Given the description of an element on the screen output the (x, y) to click on. 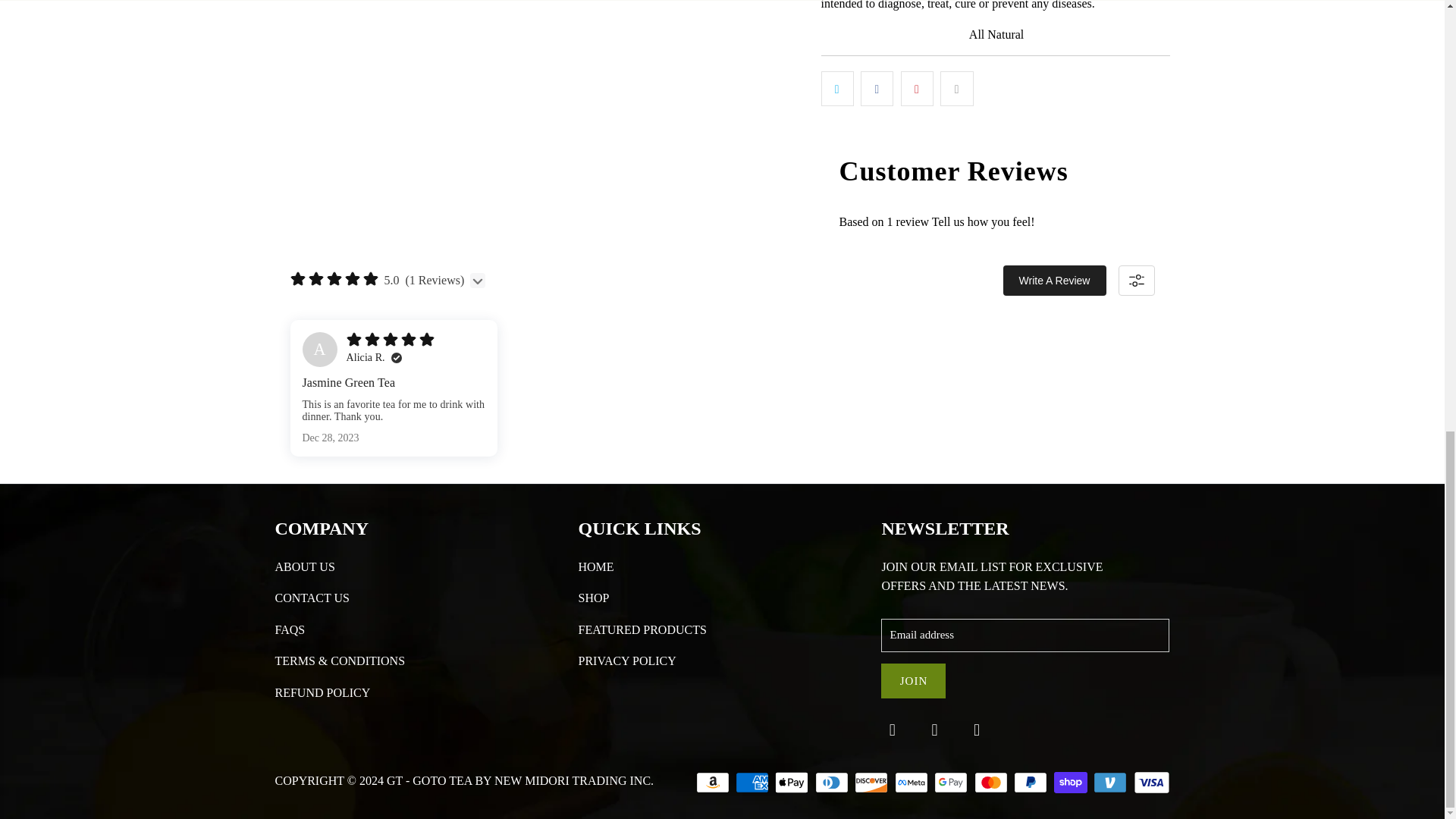
Share this on Facebook (876, 88)
Share this on Pinterest (917, 88)
Email this to a friend (956, 88)
GT - GoTo Tea by New Midori Trading Inc. on Facebook (892, 730)
Share this on Twitter (837, 88)
GT - GoTo Tea by New Midori Trading Inc. on Instagram (934, 730)
Join (912, 680)
Email GT - GoTo Tea by New Midori Trading Inc. (977, 730)
AMAZON (713, 782)
AMERICAN EXPRESS (753, 782)
